Given the description of an element on the screen output the (x, y) to click on. 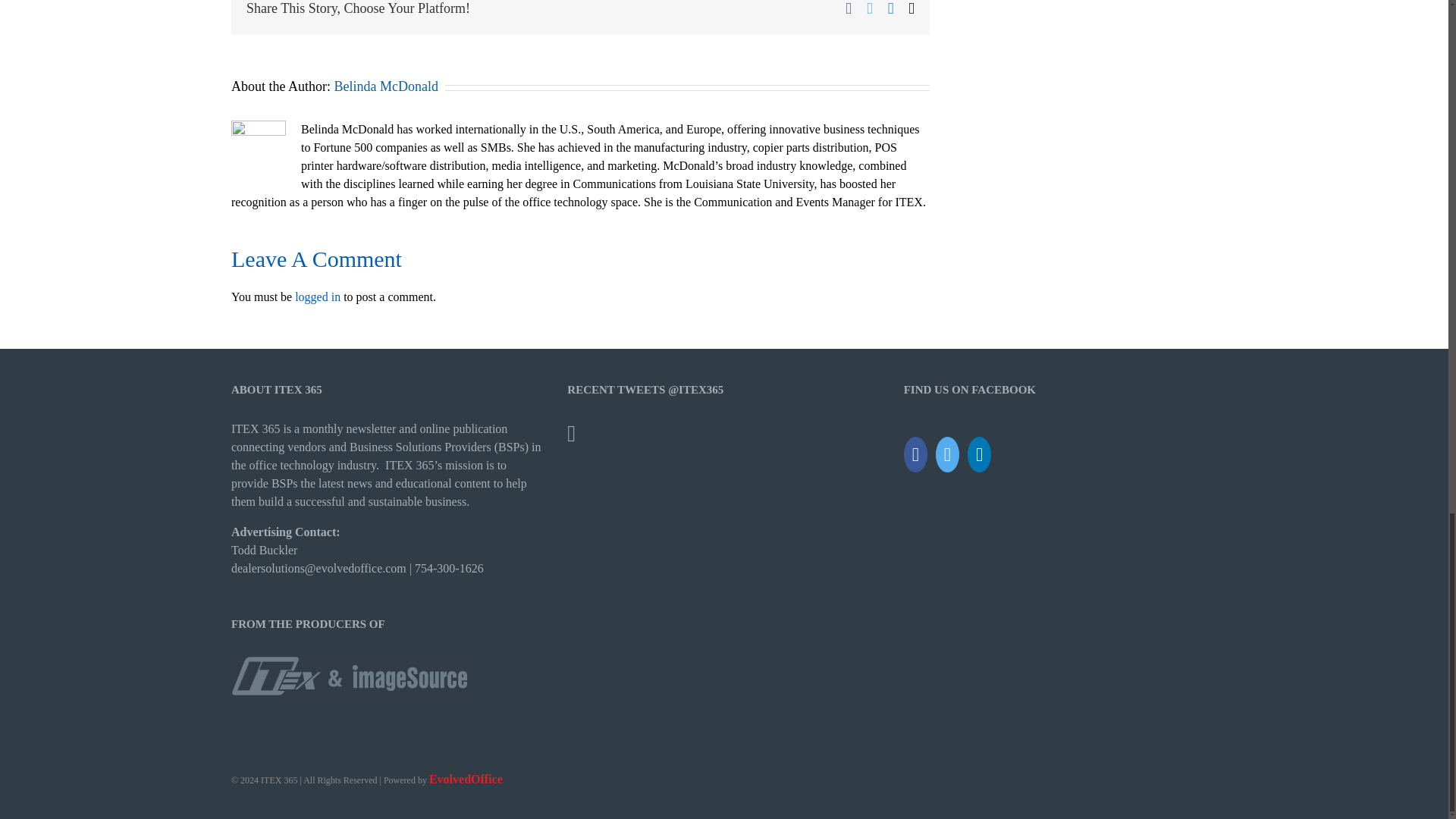
logged in (317, 296)
LinkedIn (890, 8)
Posts by Belinda McDonald (385, 86)
Email (911, 8)
Twitter (869, 8)
Twitter (947, 454)
Facebook (848, 8)
Facebook (848, 8)
LinkedIn (979, 454)
Email (911, 8)
Facebook (915, 454)
Screen-Shot-2017-03-21-at-3.01.02-PM (350, 675)
Twitter (869, 8)
LinkedIn (890, 8)
Belinda McDonald (385, 86)
